Given the description of an element on the screen output the (x, y) to click on. 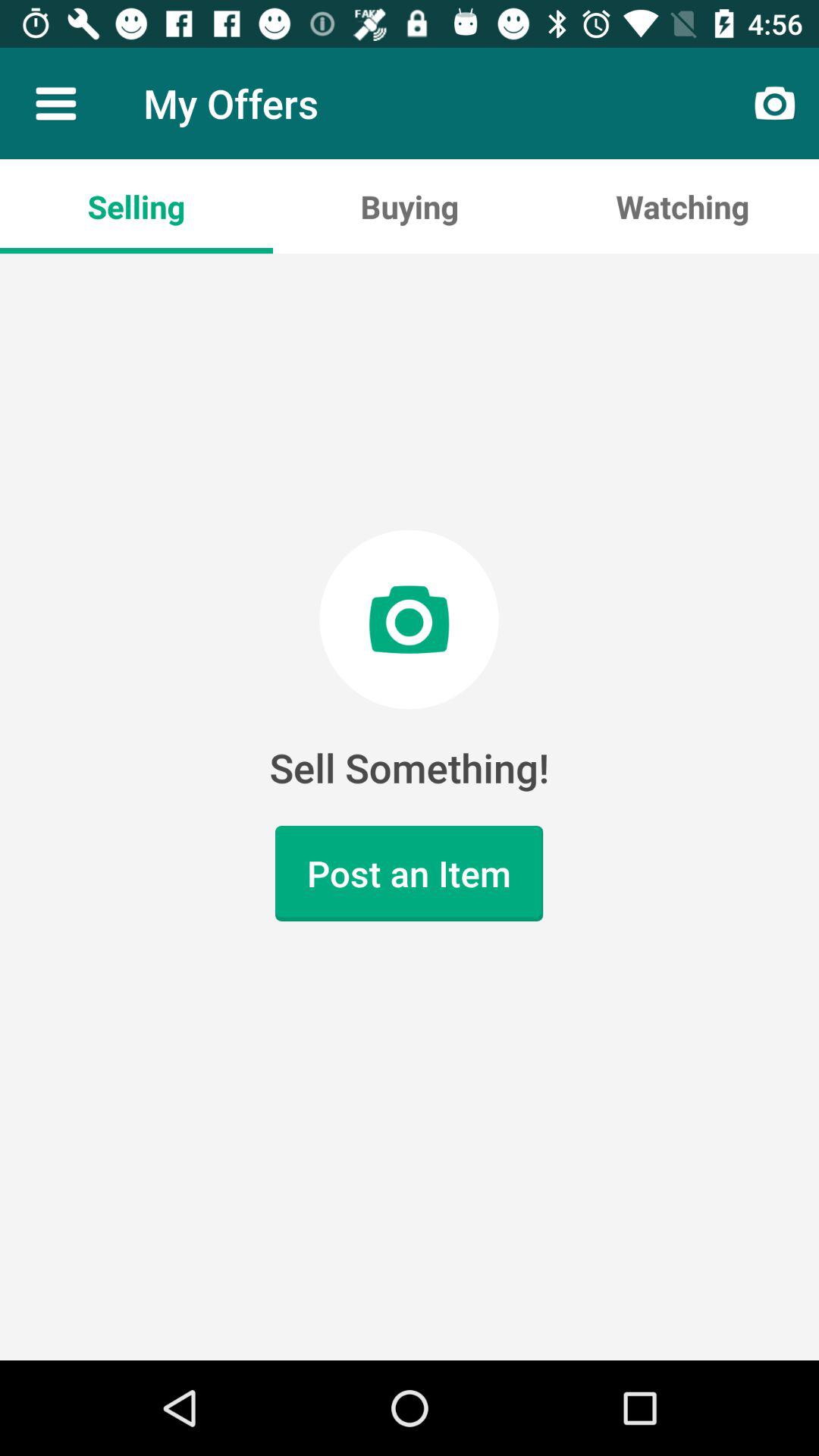
launch item to the left of the my offers icon (55, 103)
